Given the description of an element on the screen output the (x, y) to click on. 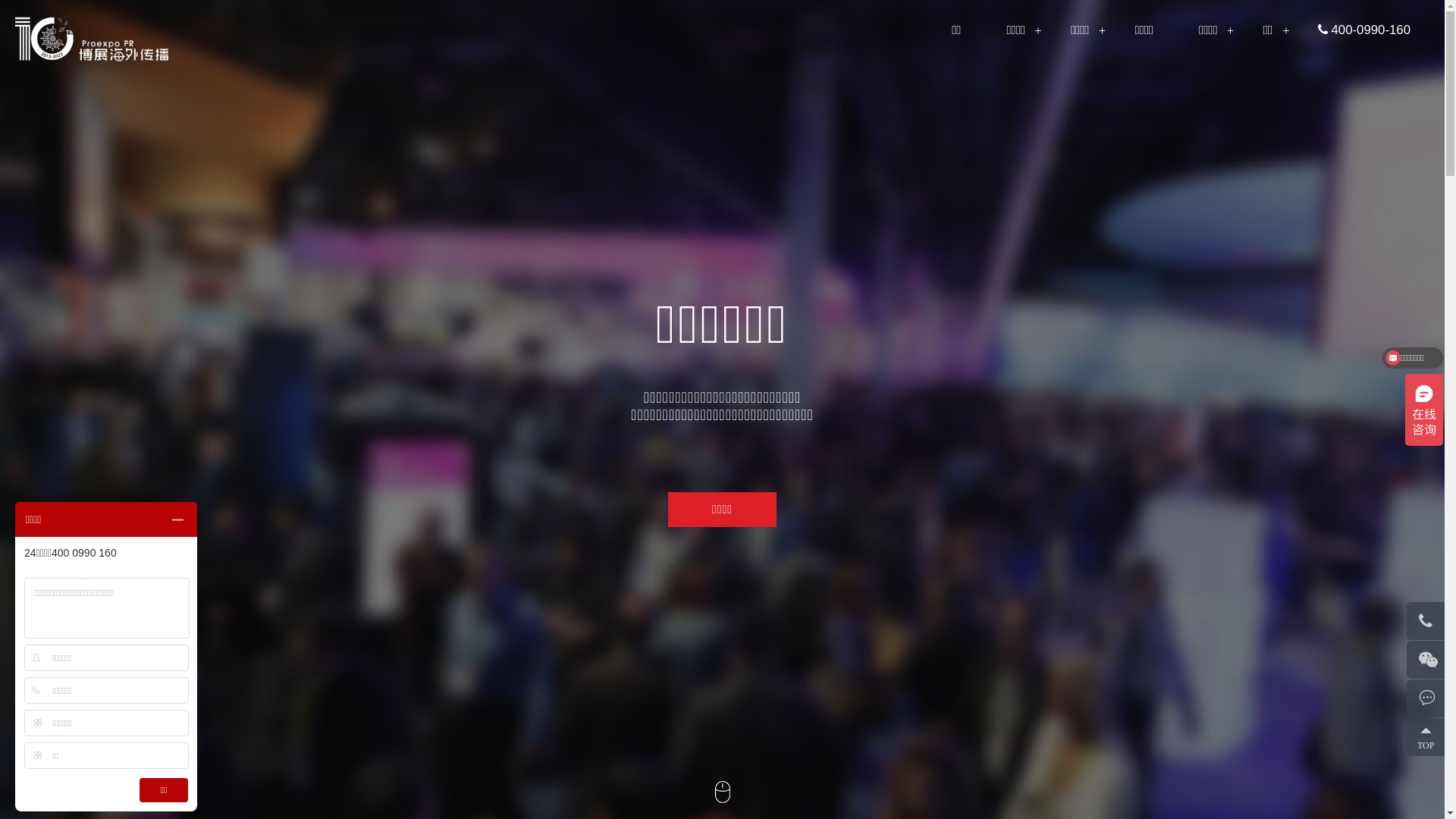
TOP Element type: text (1429, 737)
